Given the description of an element on the screen output the (x, y) to click on. 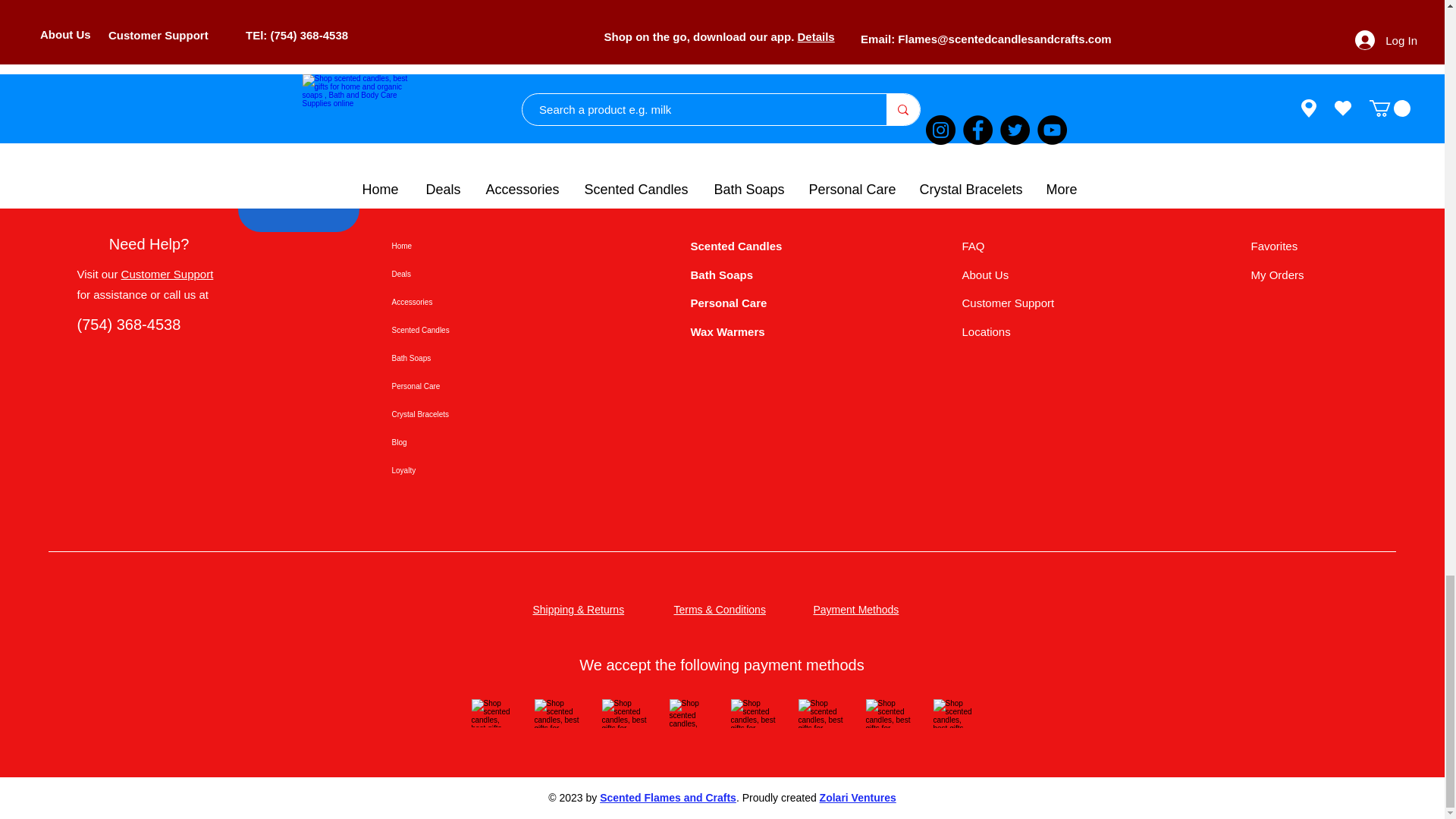
Customer Support (167, 273)
Home (444, 245)
